Given the description of an element on the screen output the (x, y) to click on. 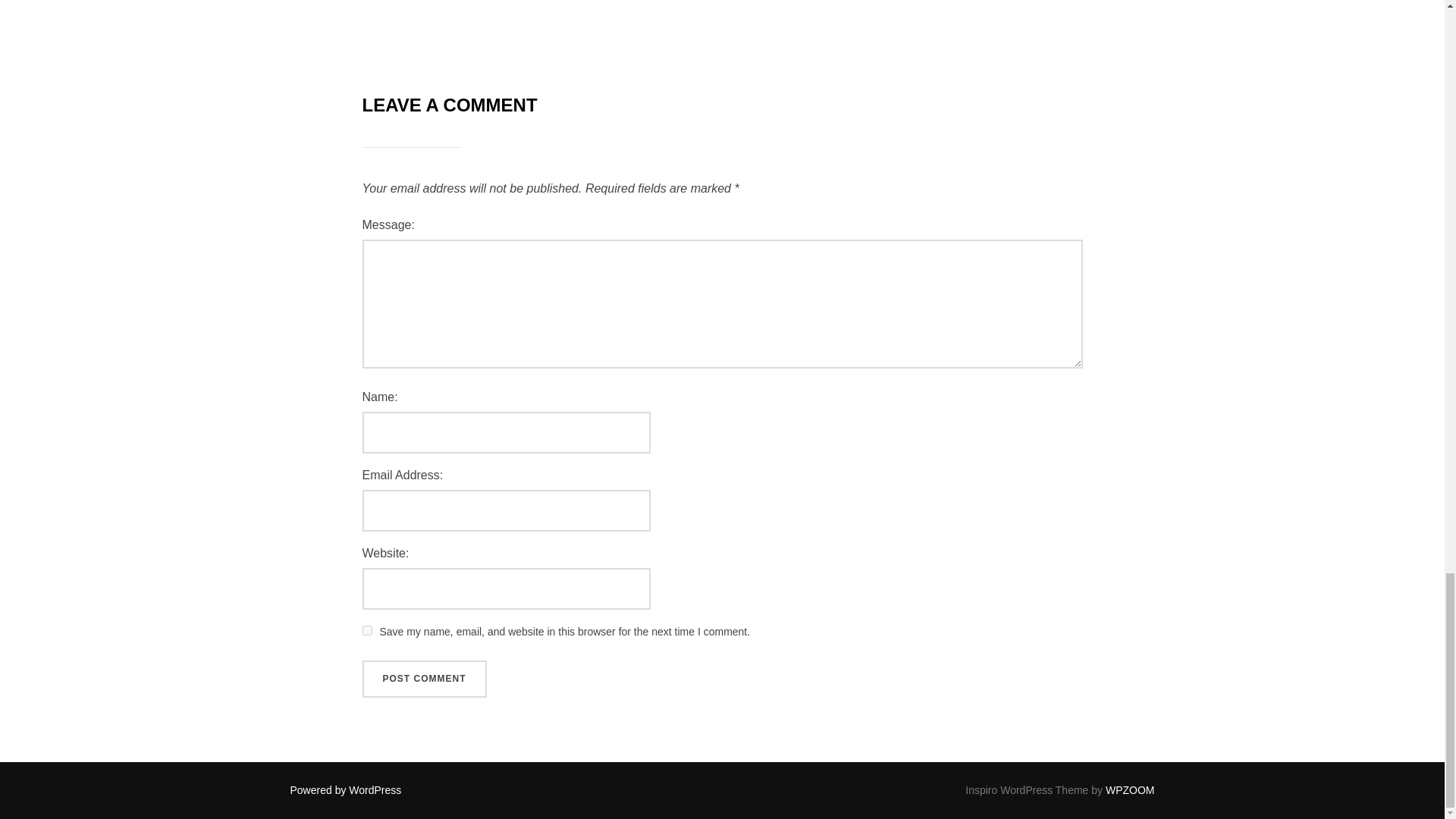
WPZOOM (1129, 789)
Post Comment (424, 679)
yes (367, 630)
Powered by WordPress (345, 789)
Post Comment (424, 679)
